Given the description of an element on the screen output the (x, y) to click on. 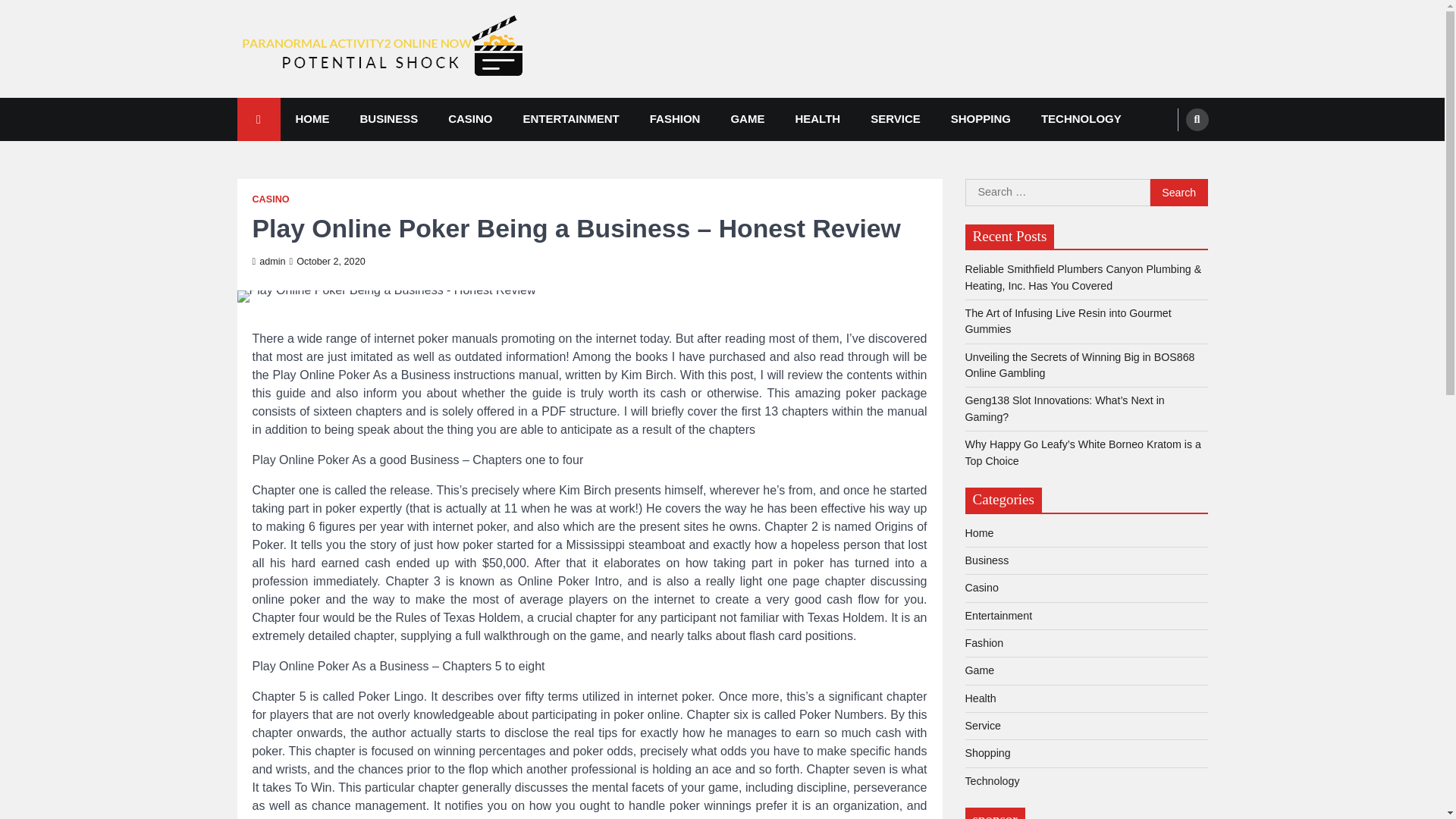
CASINO (269, 199)
Game (978, 670)
FASHION (675, 118)
Business (986, 560)
admin (268, 261)
HOME (313, 118)
ENTERTAINMENT (571, 118)
Search (1197, 118)
TECHNOLOGY (1081, 118)
BUSINESS (387, 118)
